Given the description of an element on the screen output the (x, y) to click on. 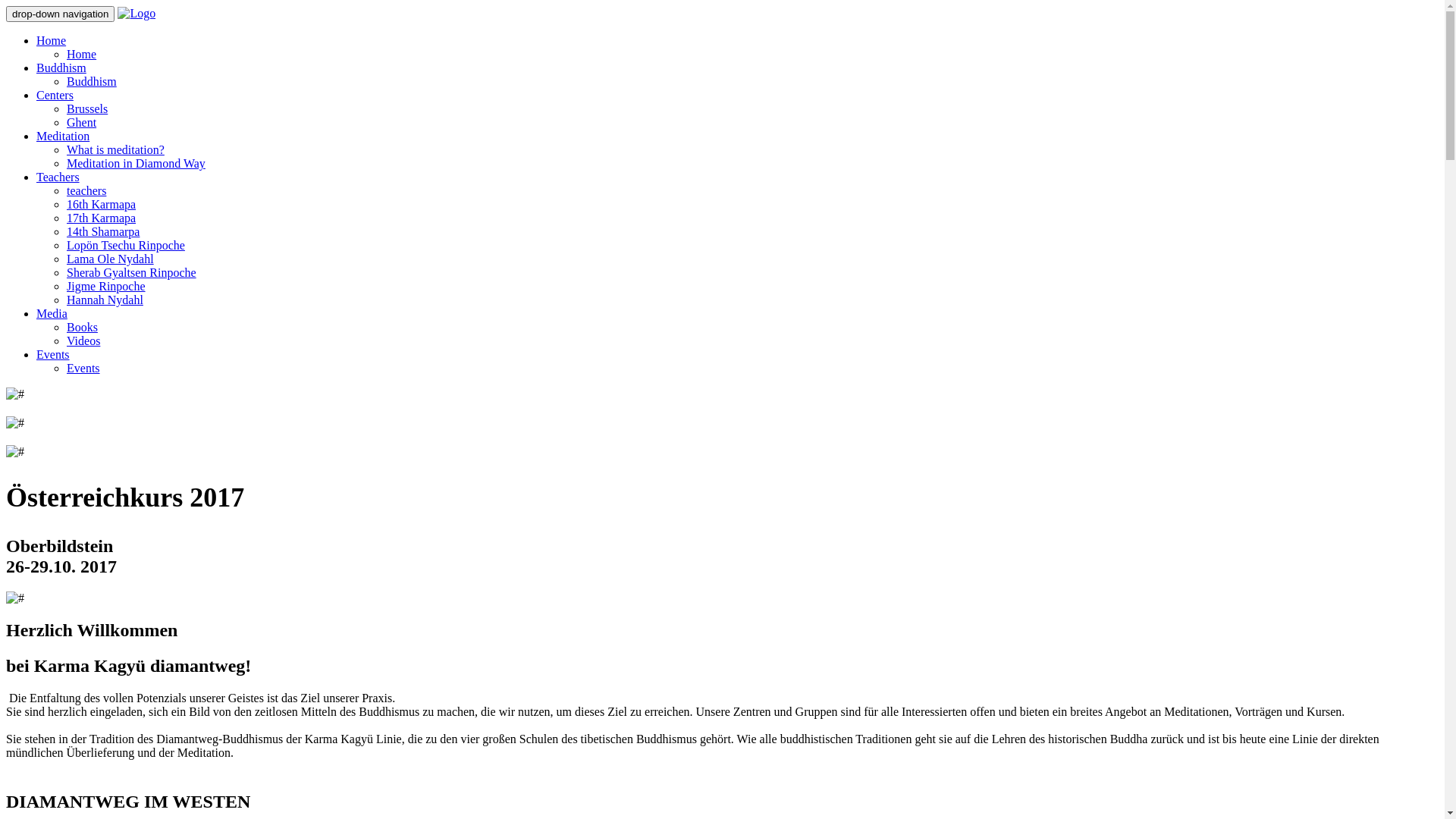
Teachers Element type: text (57, 176)
Books Element type: text (81, 326)
16th Karmapa Element type: text (100, 203)
Meditation Element type: text (62, 135)
Centers Element type: text (54, 94)
Buddhism Element type: text (61, 67)
Home Element type: text (81, 53)
Media Element type: text (51, 313)
teachers Element type: text (86, 190)
Home Element type: text (50, 40)
Jigme Rinpoche Element type: text (105, 285)
Hannah Nydahl Element type: text (104, 299)
Ghent Element type: text (81, 122)
drop-down navigation Element type: text (60, 13)
Videos Element type: text (83, 340)
What is meditation? Element type: text (115, 149)
Sherab Gyaltsen Rinpoche Element type: text (131, 272)
Brussels Element type: text (86, 108)
Lama Ole Nydahl Element type: text (109, 258)
17th Karmapa Element type: text (100, 217)
Buddhism Element type: text (91, 81)
Events Element type: text (52, 354)
Meditation in Diamond Way Element type: text (135, 162)
Events Element type: text (83, 367)
14th Shamarpa Element type: text (102, 231)
